Given the description of an element on the screen output the (x, y) to click on. 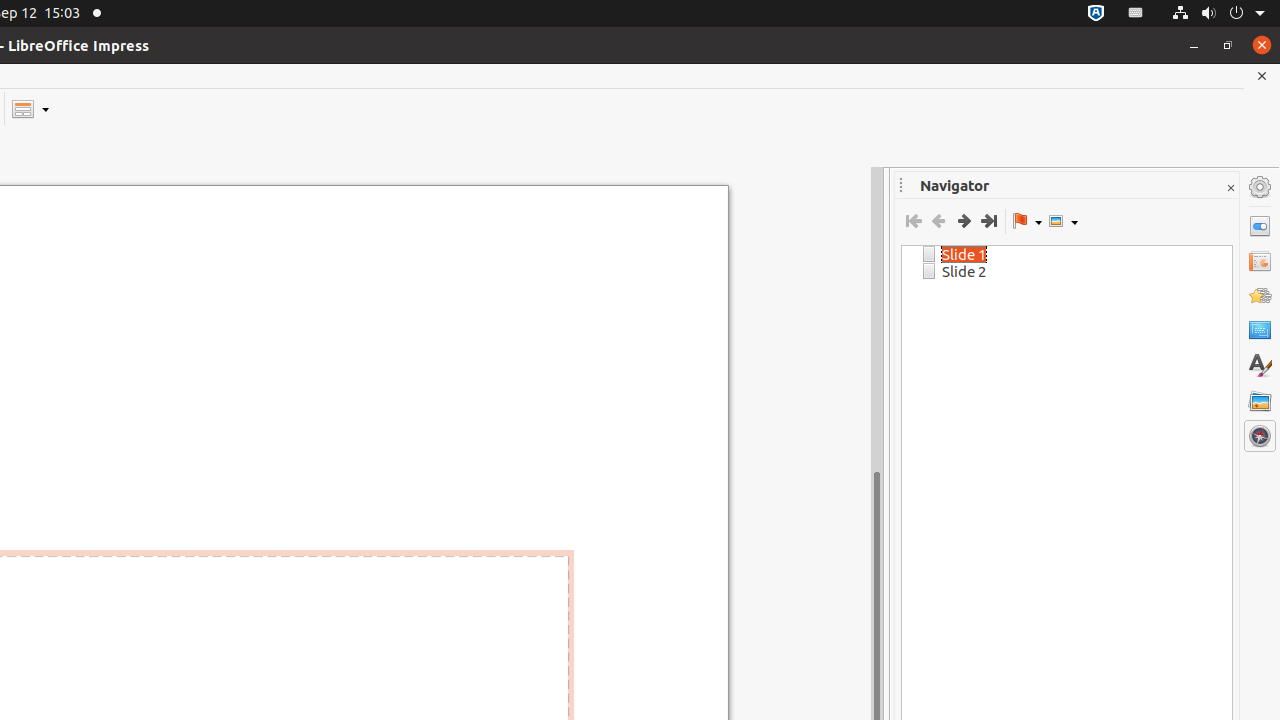
Navigator Element type: radio-button (1260, 436)
Styles Element type: radio-button (1260, 366)
Gallery Element type: radio-button (1260, 401)
Drag Mode Element type: push-button (1027, 221)
